Given the description of an element on the screen output the (x, y) to click on. 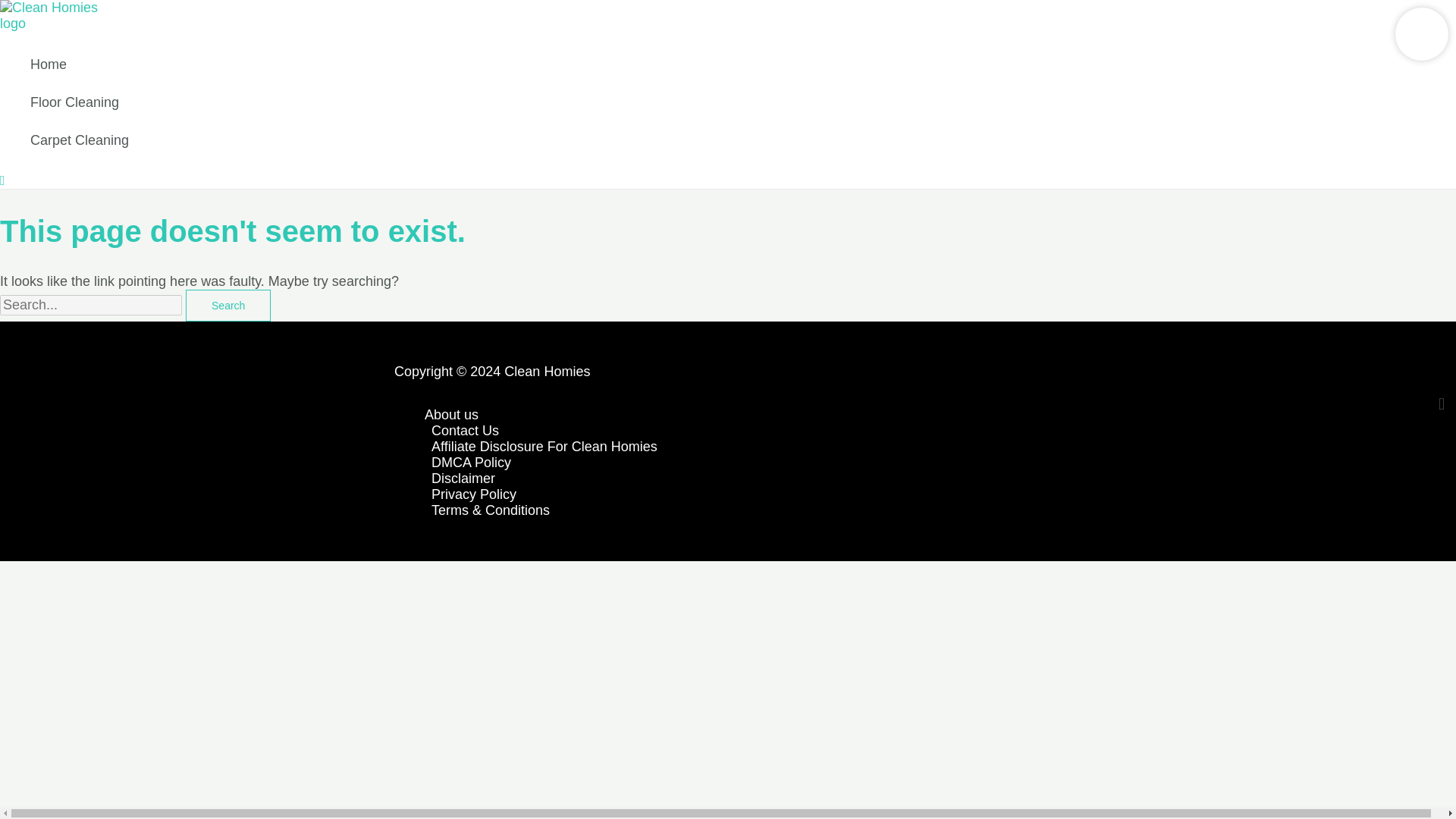
Floor Cleaning (79, 102)
Home (79, 64)
Disclaimer (743, 478)
Privacy Policy (743, 494)
Carpet Cleaning (79, 139)
Search (228, 305)
Contact Us (743, 430)
DMCA Policy (743, 462)
Search (228, 305)
